Given the description of an element on the screen output the (x, y) to click on. 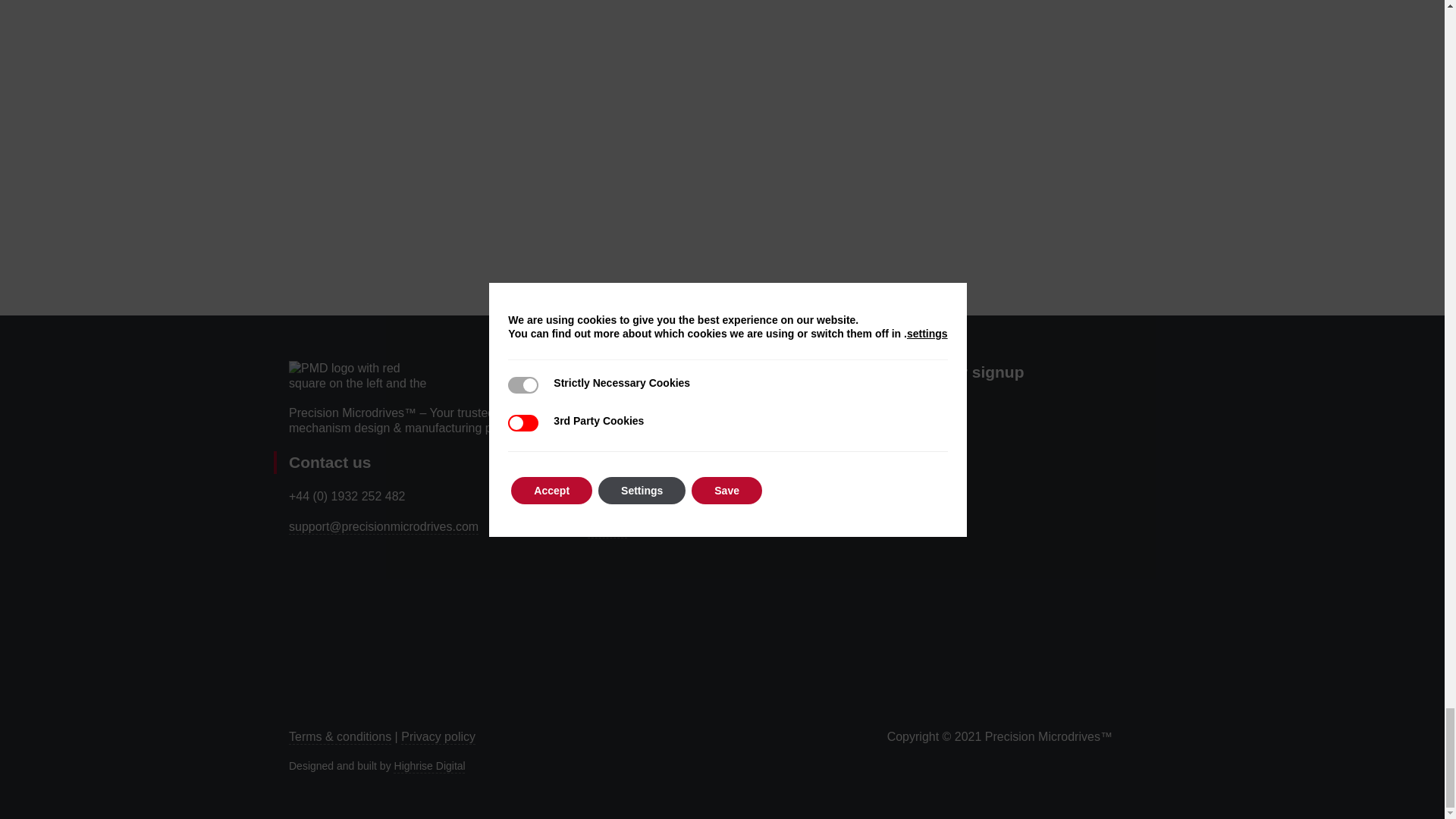
Form 1 (1021, 548)
